Given the description of an element on the screen output the (x, y) to click on. 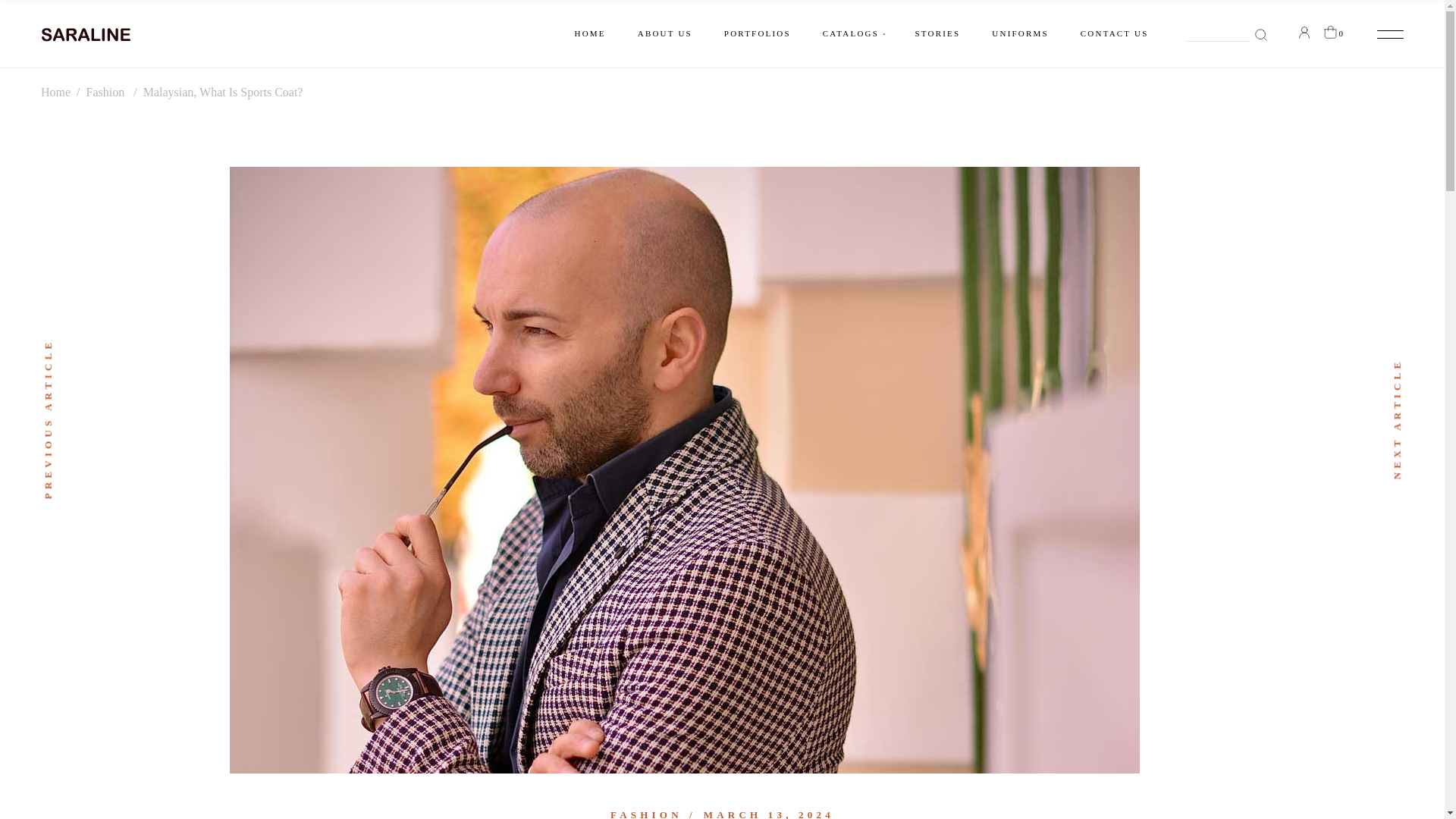
PORTFOLIOS (756, 33)
HOME (590, 33)
UNIFORMS (1019, 33)
ABOUT US (664, 33)
STORIES (937, 33)
CATALOGS (852, 33)
Search for: (1225, 34)
